Given the description of an element on the screen output the (x, y) to click on. 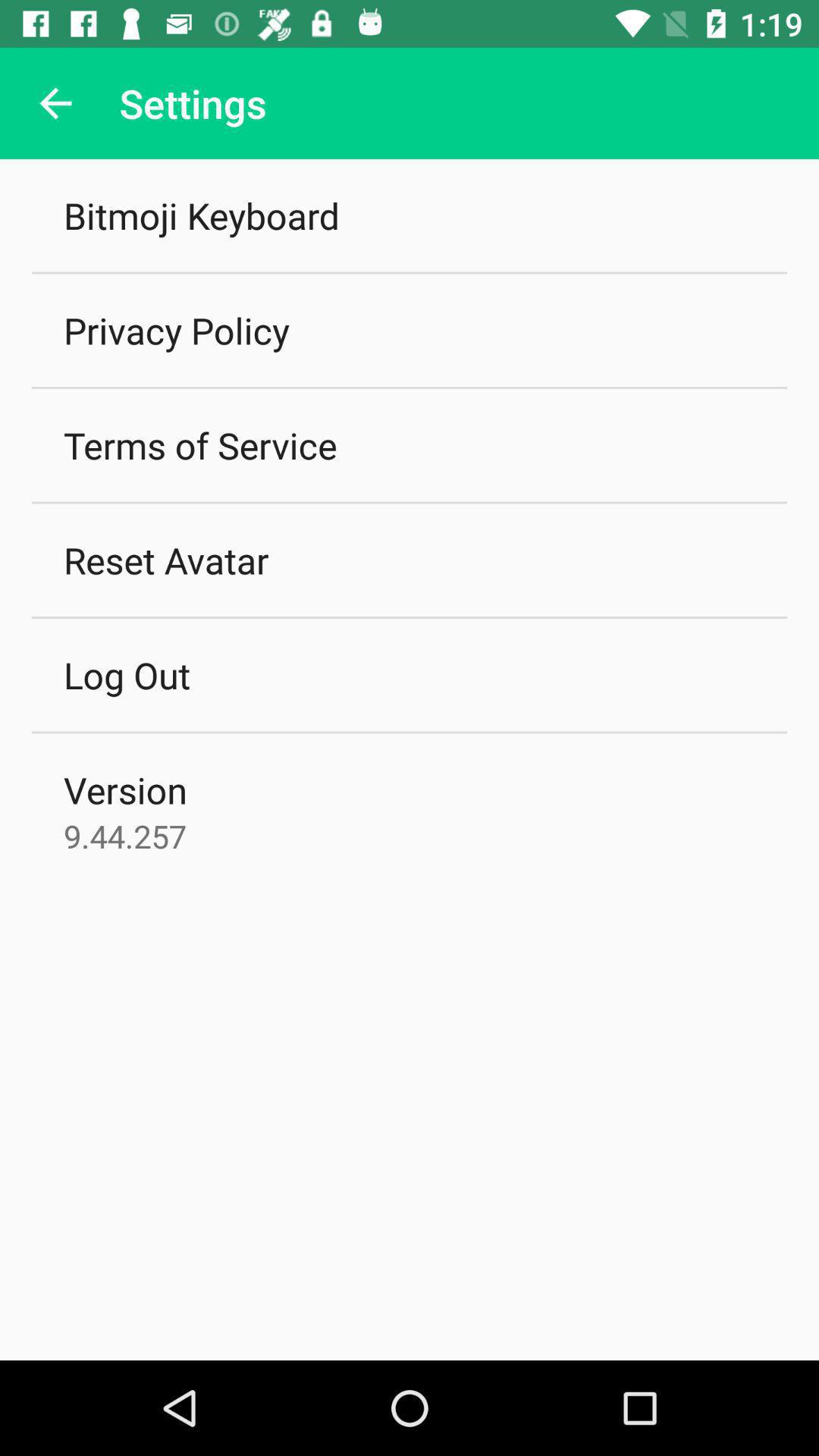
jump until 9.44.257 icon (124, 835)
